Given the description of an element on the screen output the (x, y) to click on. 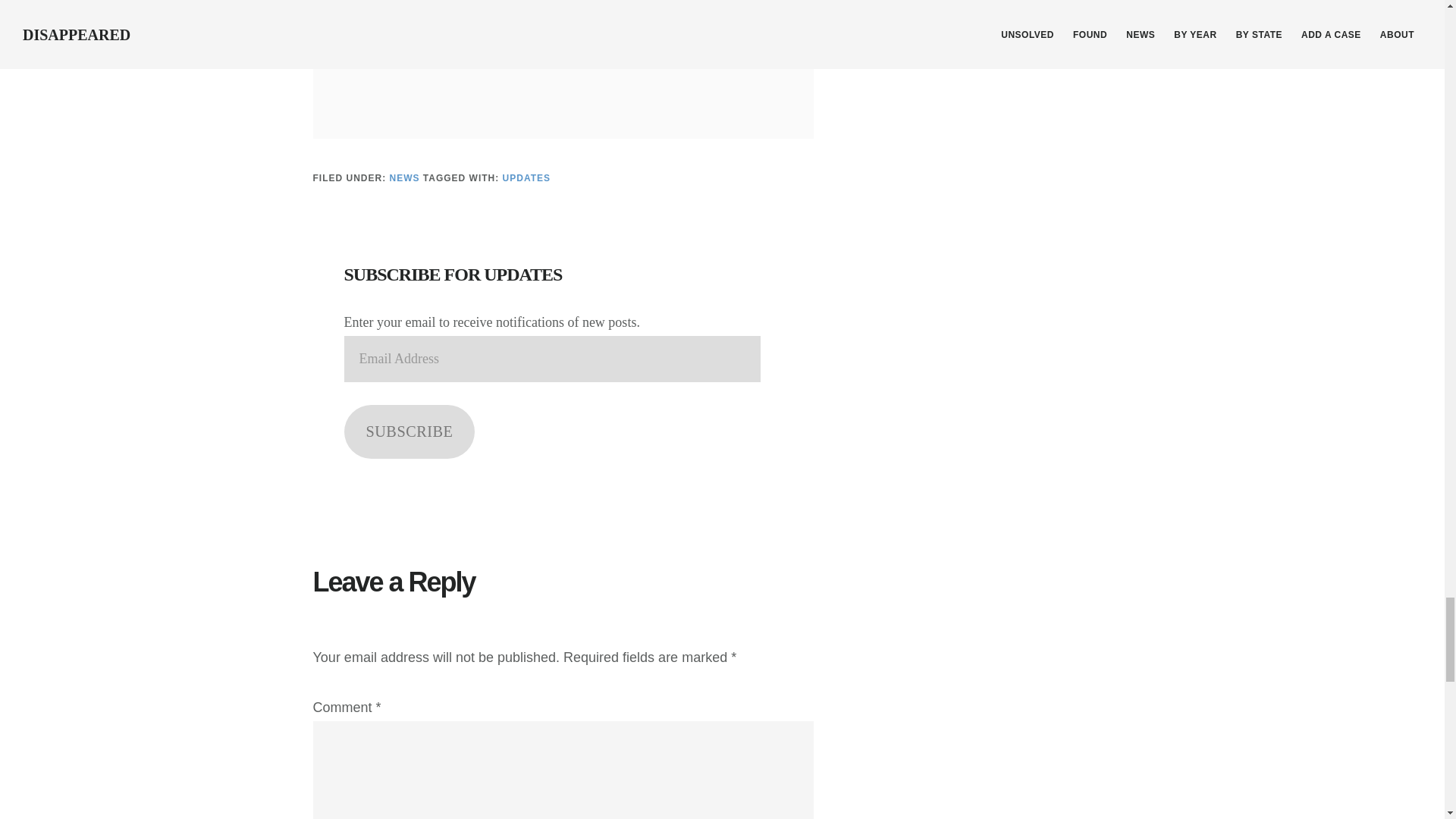
UPDATES (526, 177)
NEWS (405, 177)
SUBSCRIBE (409, 431)
